Given the description of an element on the screen output the (x, y) to click on. 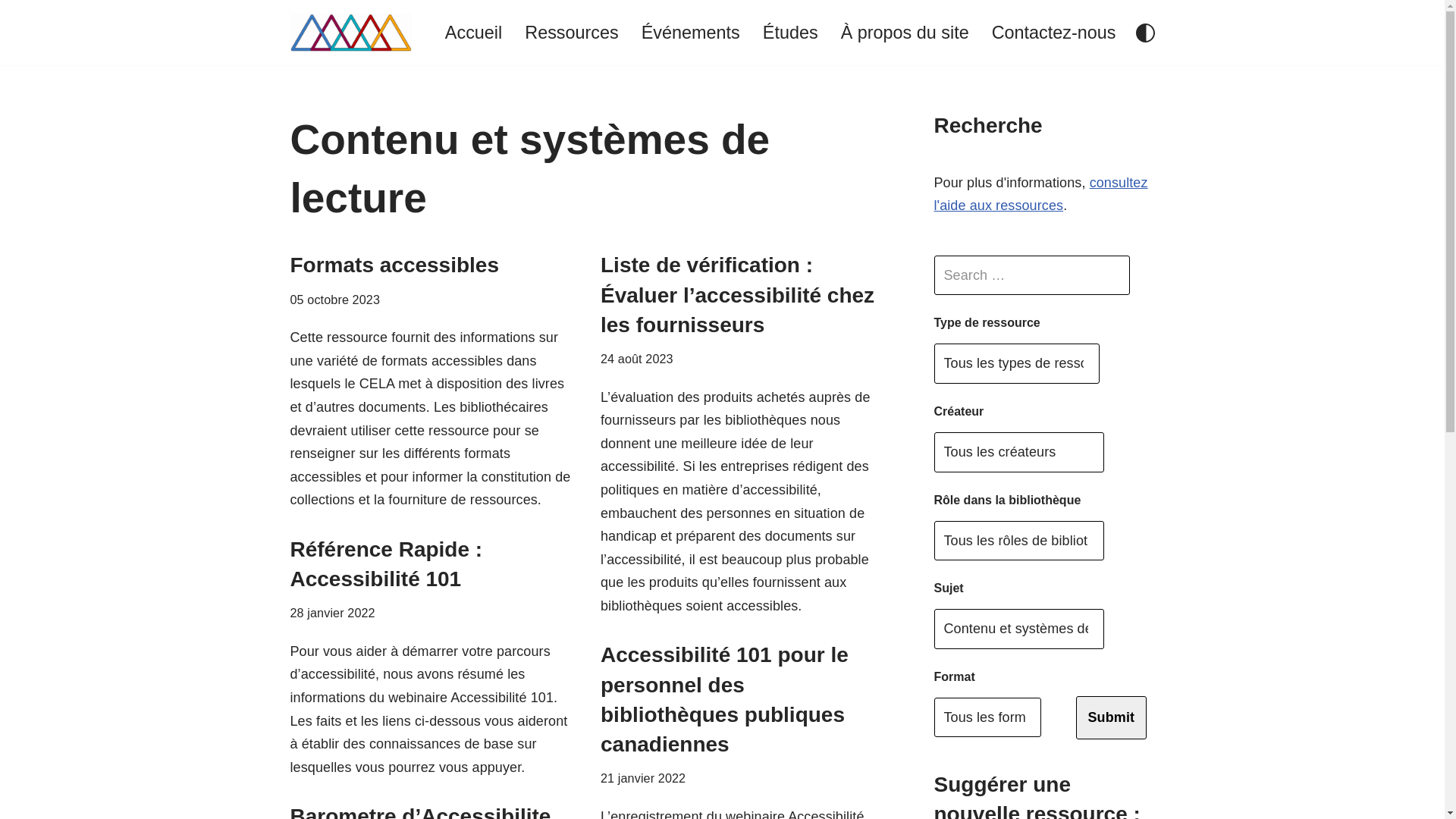
Submit Element type: text (1110, 717)
consultez l'aide aux ressources Element type: text (1041, 194)
Aller au contenu Element type: text (11, 31)
Accueil Element type: text (473, 32)
Ressources Element type: text (571, 32)
Contactez-nous Element type: text (1053, 32)
Formats accessibles Element type: text (393, 264)
